Given the description of an element on the screen output the (x, y) to click on. 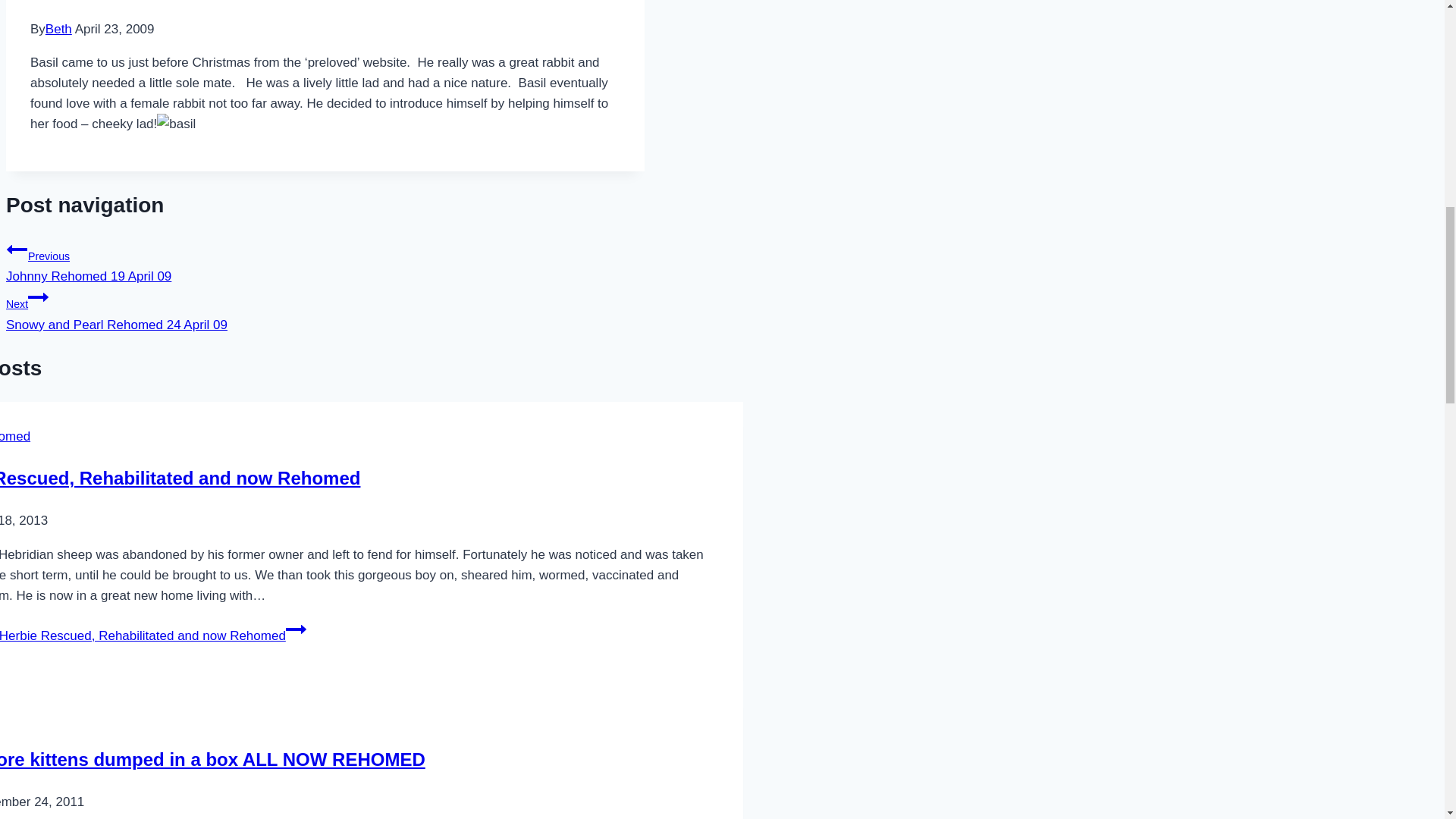
Even more kittens dumped in a box ALL NOW REHOMED (212, 759)
Rehomed (15, 436)
Continue (325, 261)
Herbie Rescued, Rehabilitated and now Rehomed (37, 296)
Previous (179, 477)
Beth (16, 249)
Continue (58, 29)
